Given the description of an element on the screen output the (x, y) to click on. 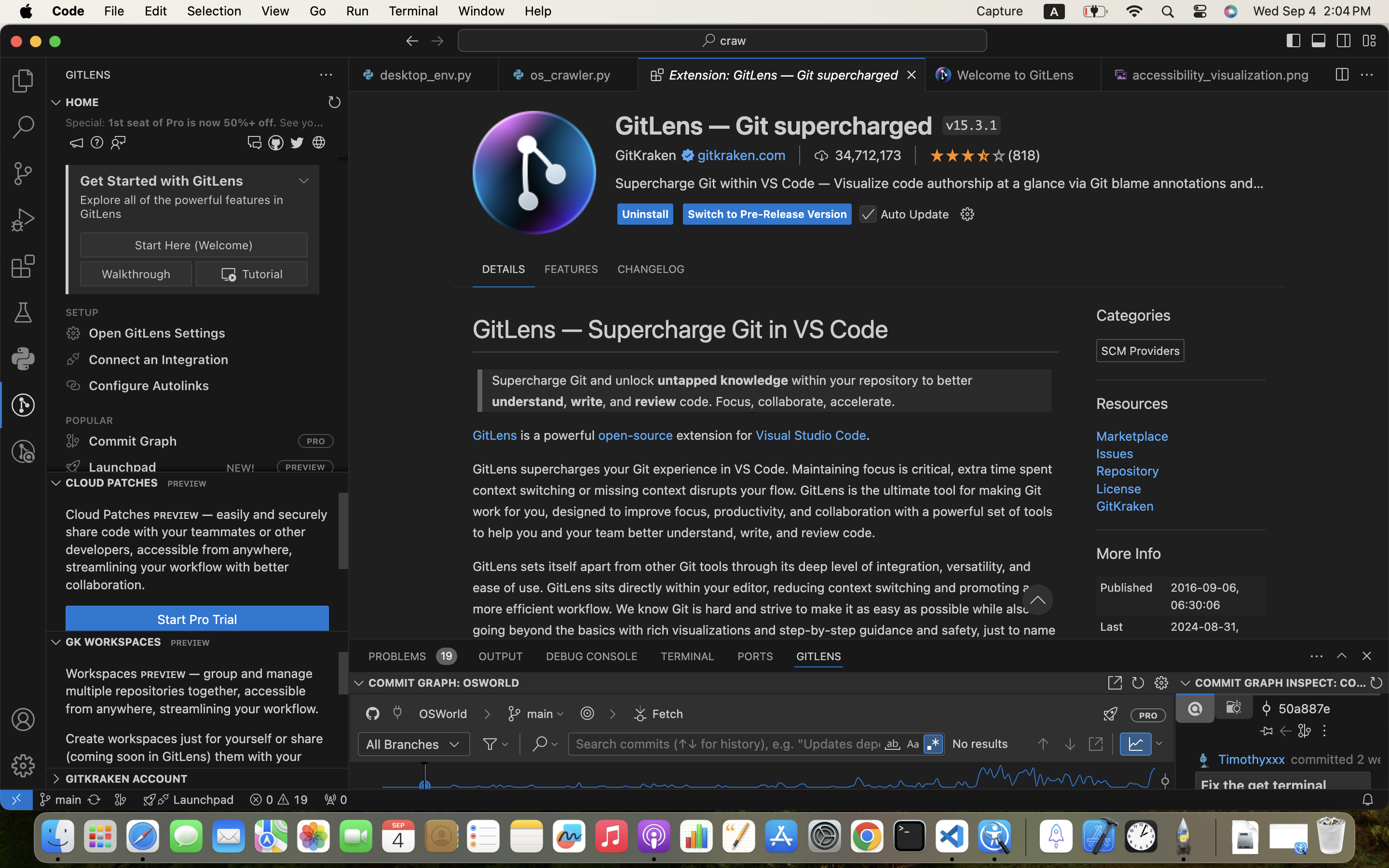
Pro Element type: AXGroup (698, 283)
except Element type: AXStaticText (641, 281)
 Element type: AXButton (1369, 40)
 Element type: AXStaticText (688, 154)
1  Element type: AXRadioButton (23, 266)
